Given the description of an element on the screen output the (x, y) to click on. 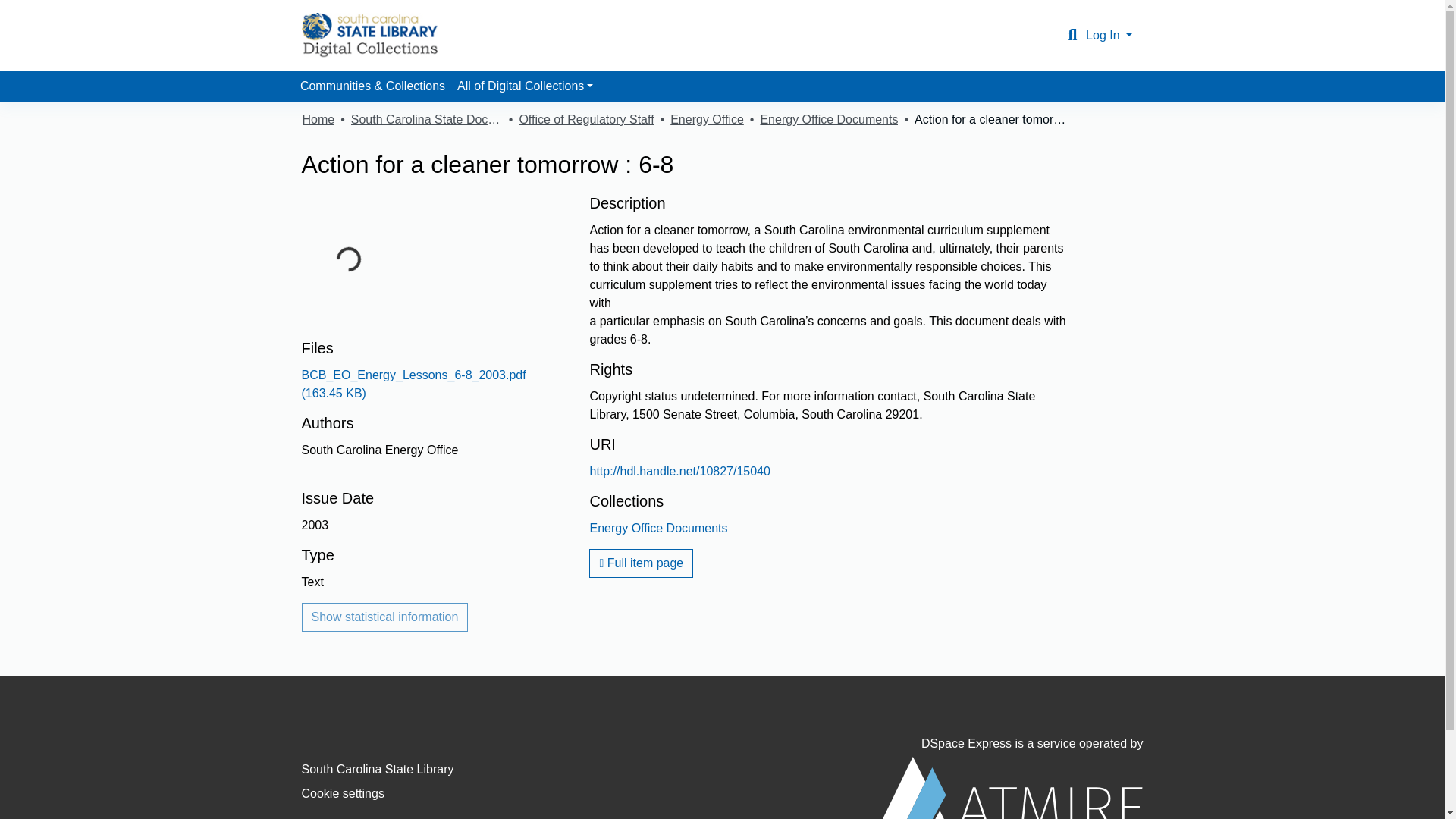
Show statistical information (384, 616)
DSpace Express is a service operated by (1009, 778)
Energy Office (706, 119)
South Carolina State Library (377, 768)
Home (317, 119)
South Carolina State Documents Depository (426, 119)
Office of Regulatory Staff (585, 119)
Energy Office Documents (657, 527)
Search (1072, 35)
Full item page (641, 563)
Energy Office Documents (829, 119)
All of Digital Collections (524, 86)
Cookie settings (342, 793)
Log In (1108, 34)
